Given the description of an element on the screen output the (x, y) to click on. 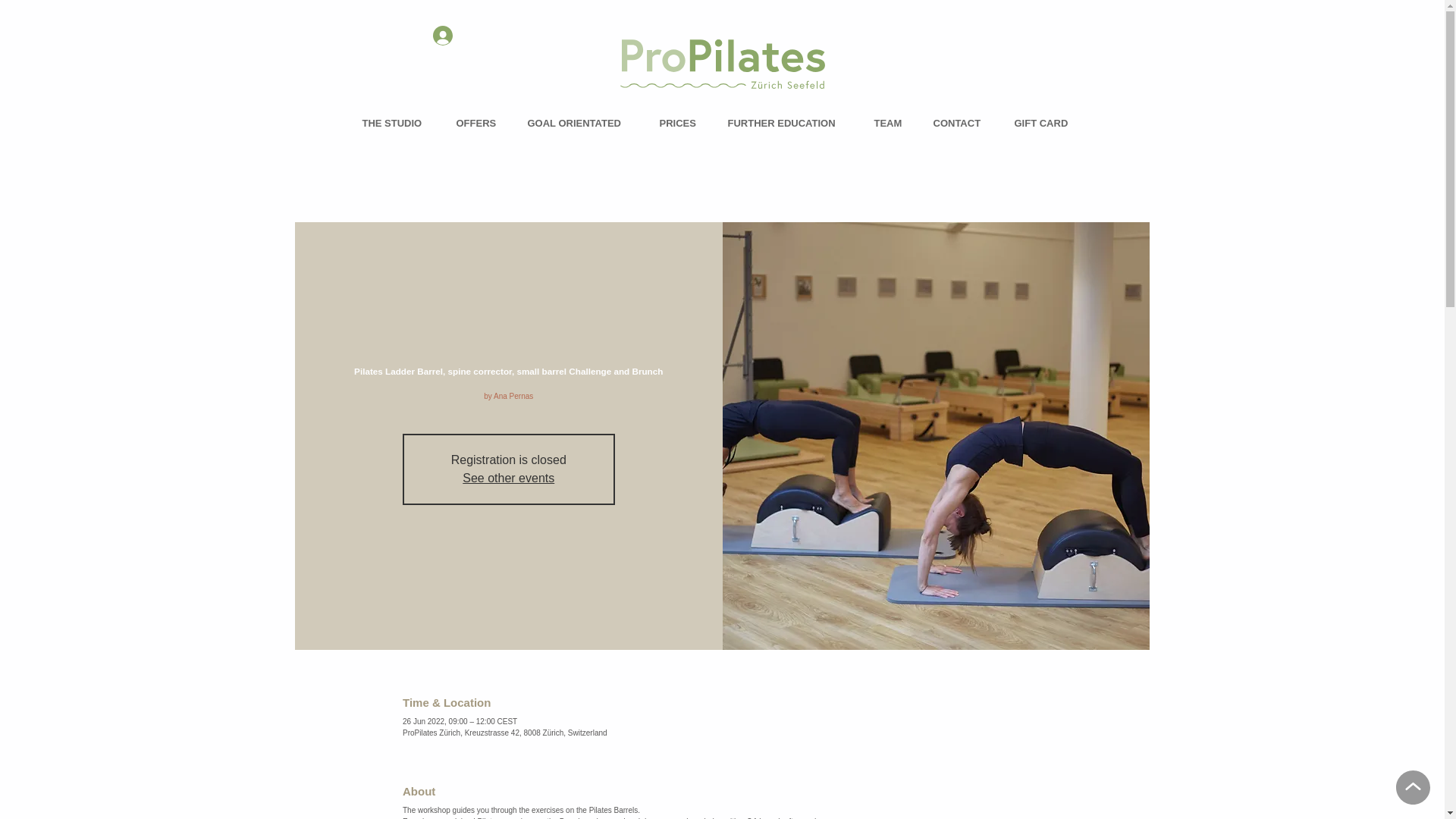
OFFERS (479, 122)
GOAL ORIENTATED (581, 122)
THE STUDIO (397, 122)
Log In (463, 35)
PRICES (681, 122)
FURTHER EDUCATION (788, 122)
TEAM (892, 122)
